Given the description of an element on the screen output the (x, y) to click on. 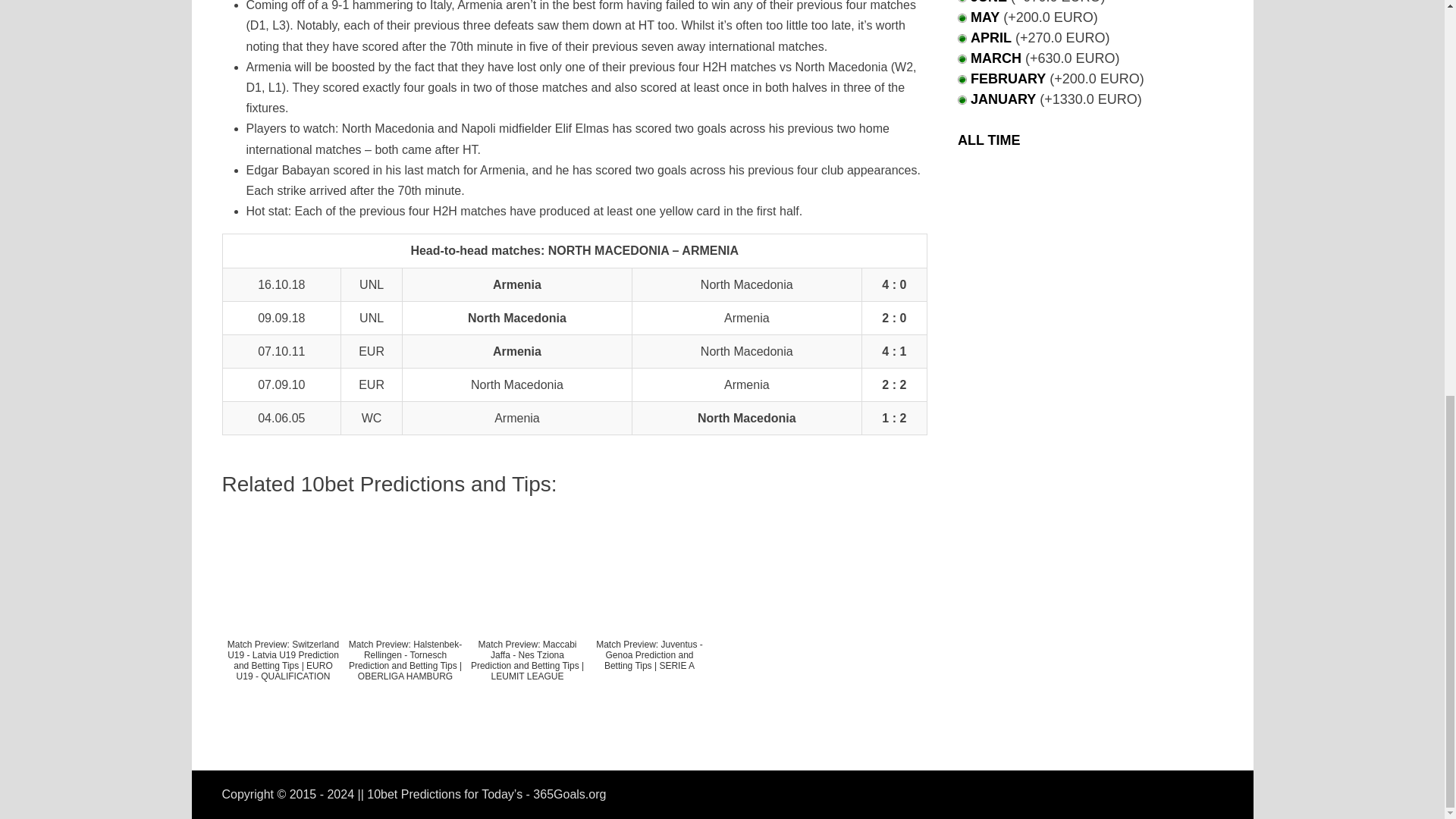
FEBRUARY (1008, 78)
MARCH (996, 58)
JANUARY (1003, 99)
APRIL (991, 37)
MAY (984, 17)
JUNE (989, 2)
ALL TIME (989, 140)
